Given the description of an element on the screen output the (x, y) to click on. 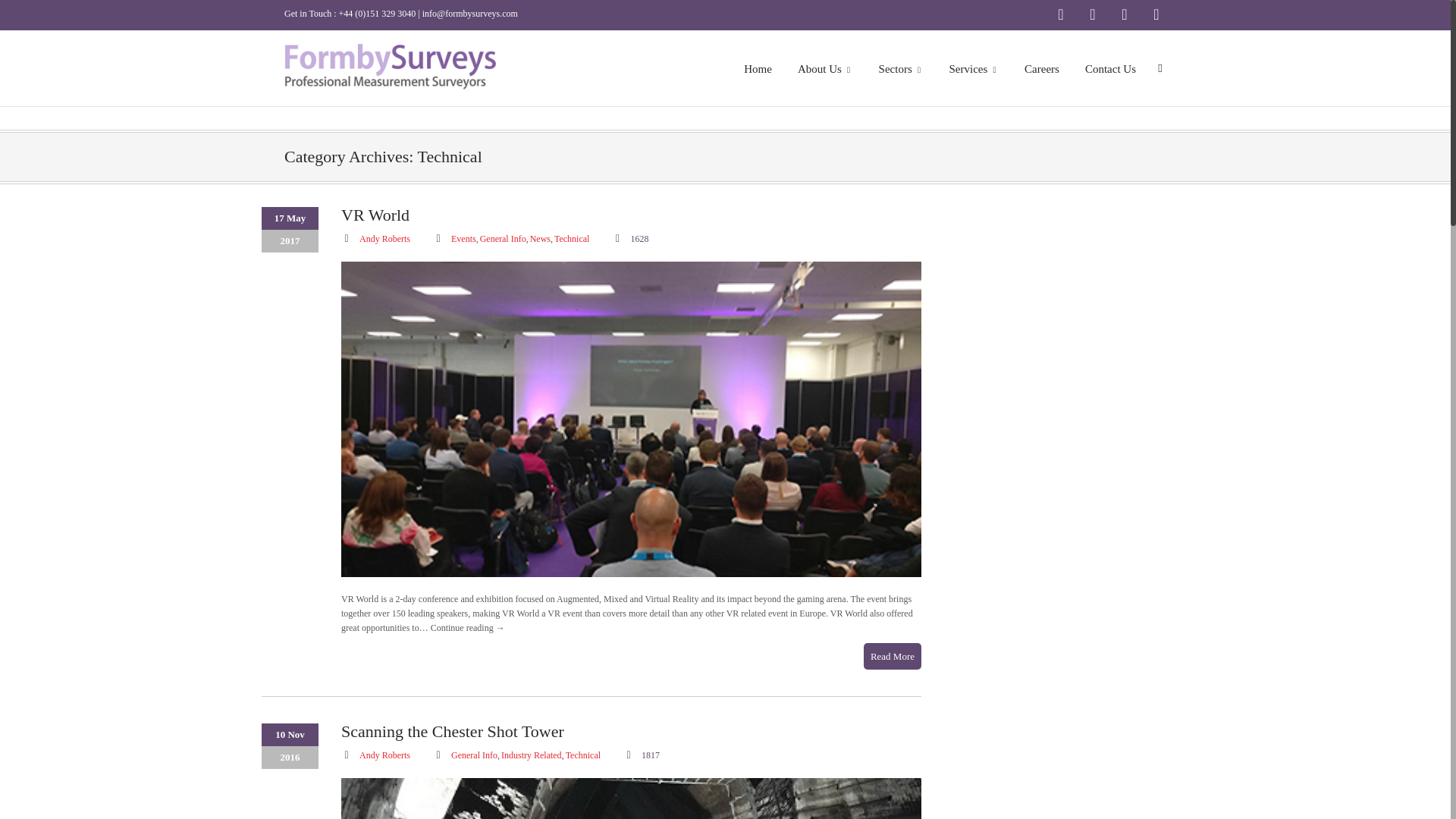
Home (757, 77)
About Us (825, 77)
Sectors (901, 77)
Services (973, 77)
